Given the description of an element on the screen output the (x, y) to click on. 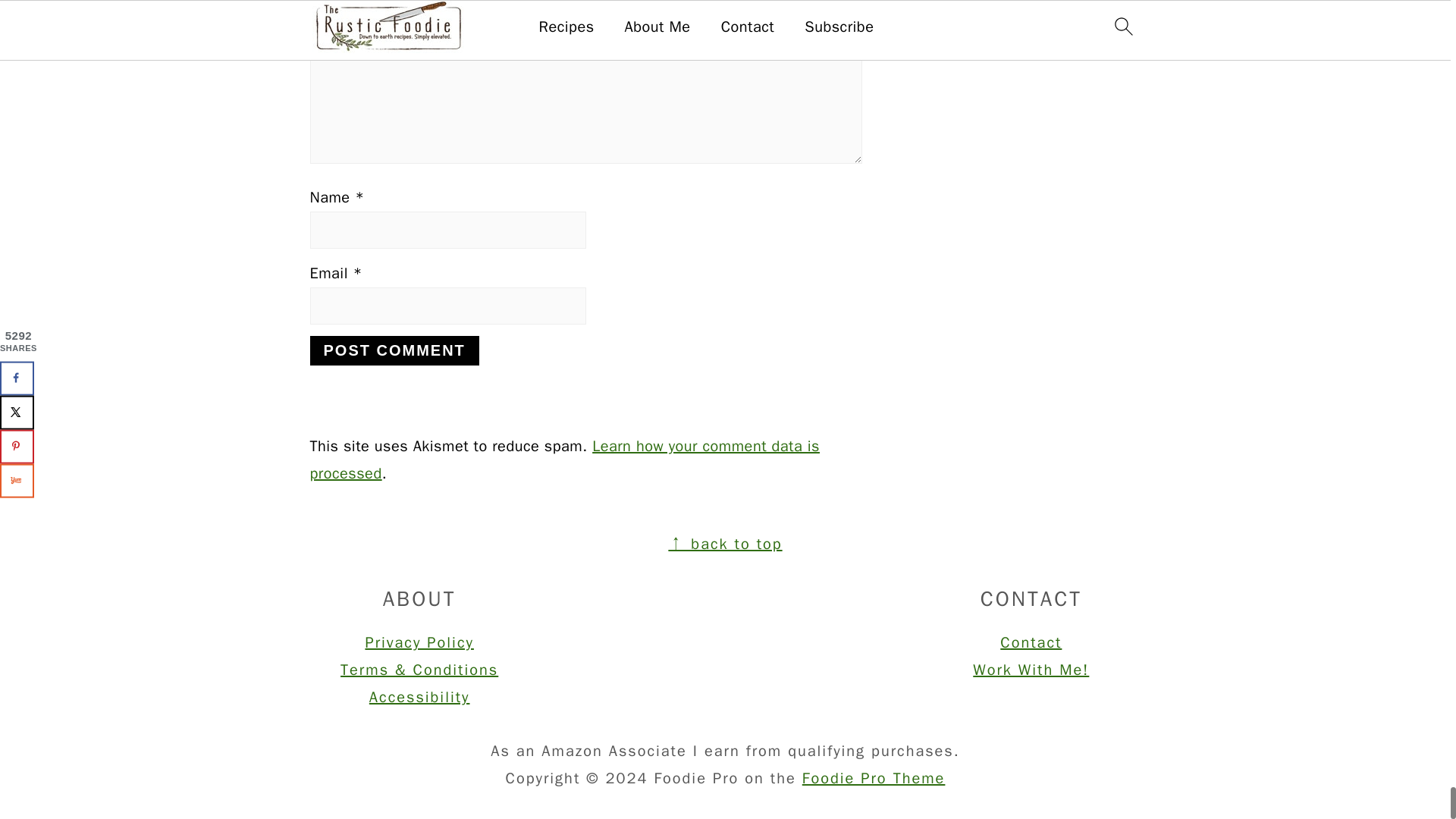
Post Comment (393, 350)
